Given the description of an element on the screen output the (x, y) to click on. 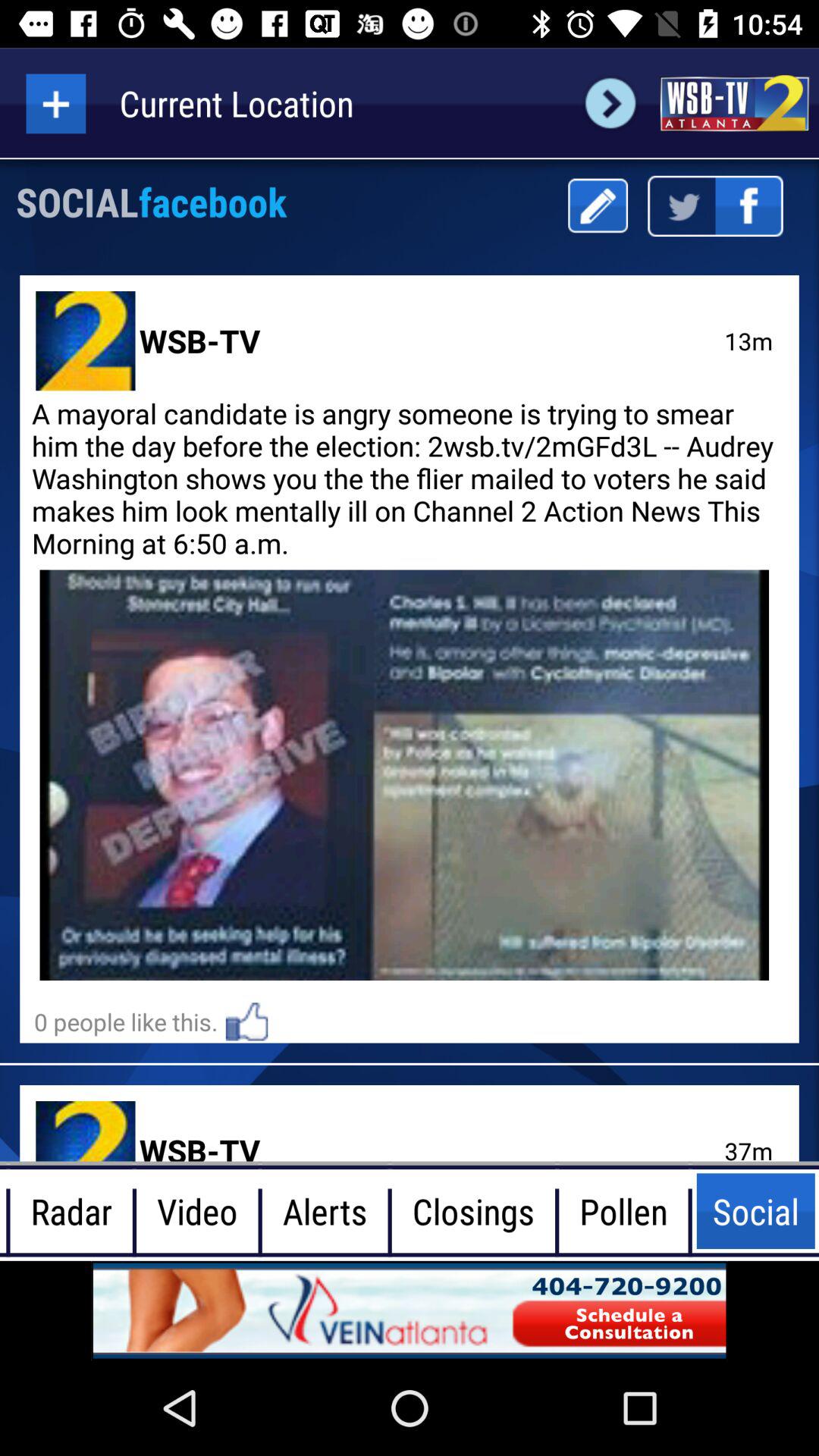
more (55, 103)
